Given the description of an element on the screen output the (x, y) to click on. 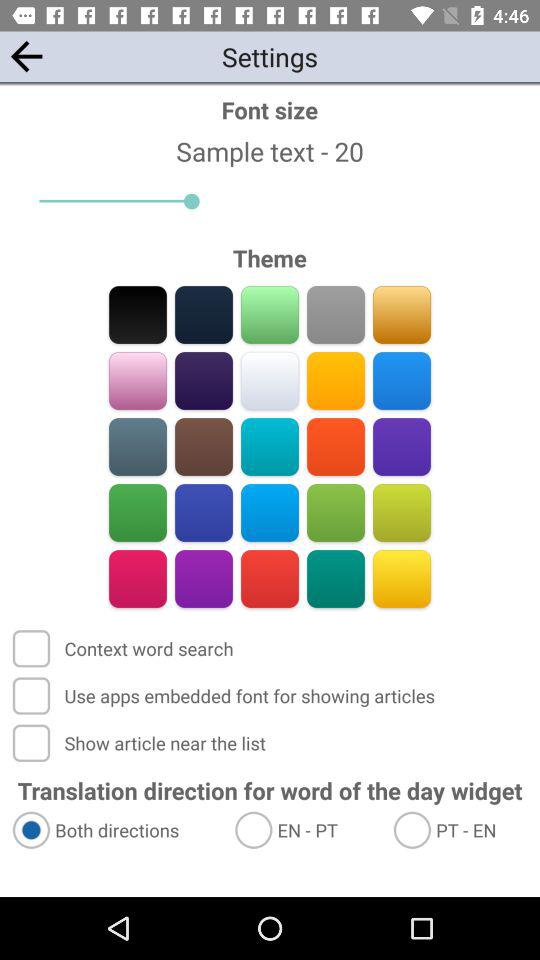
choose the show article near (141, 742)
